Given the description of an element on the screen output the (x, y) to click on. 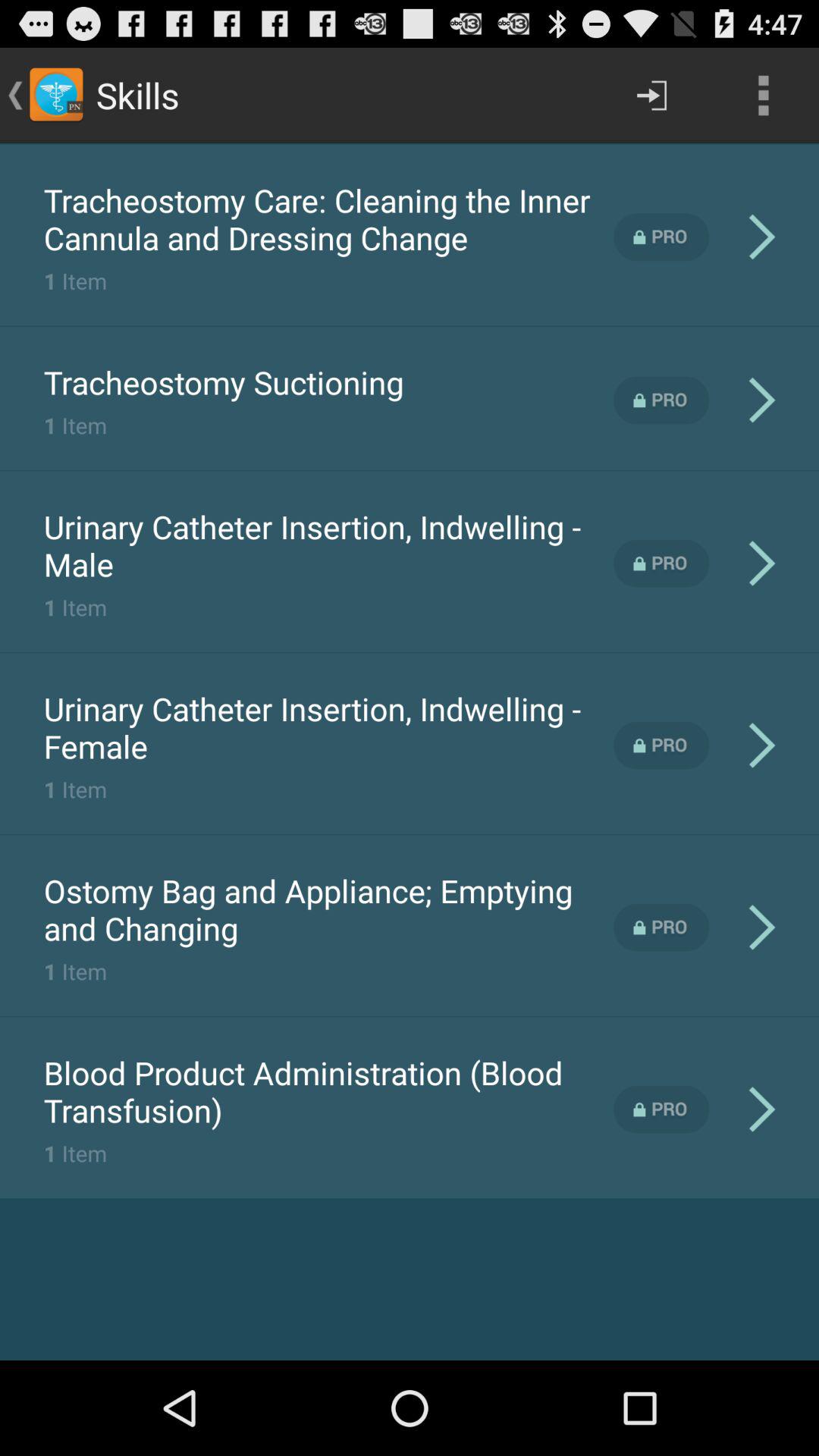
tap app below 1 item app (328, 909)
